Given the description of an element on the screen output the (x, y) to click on. 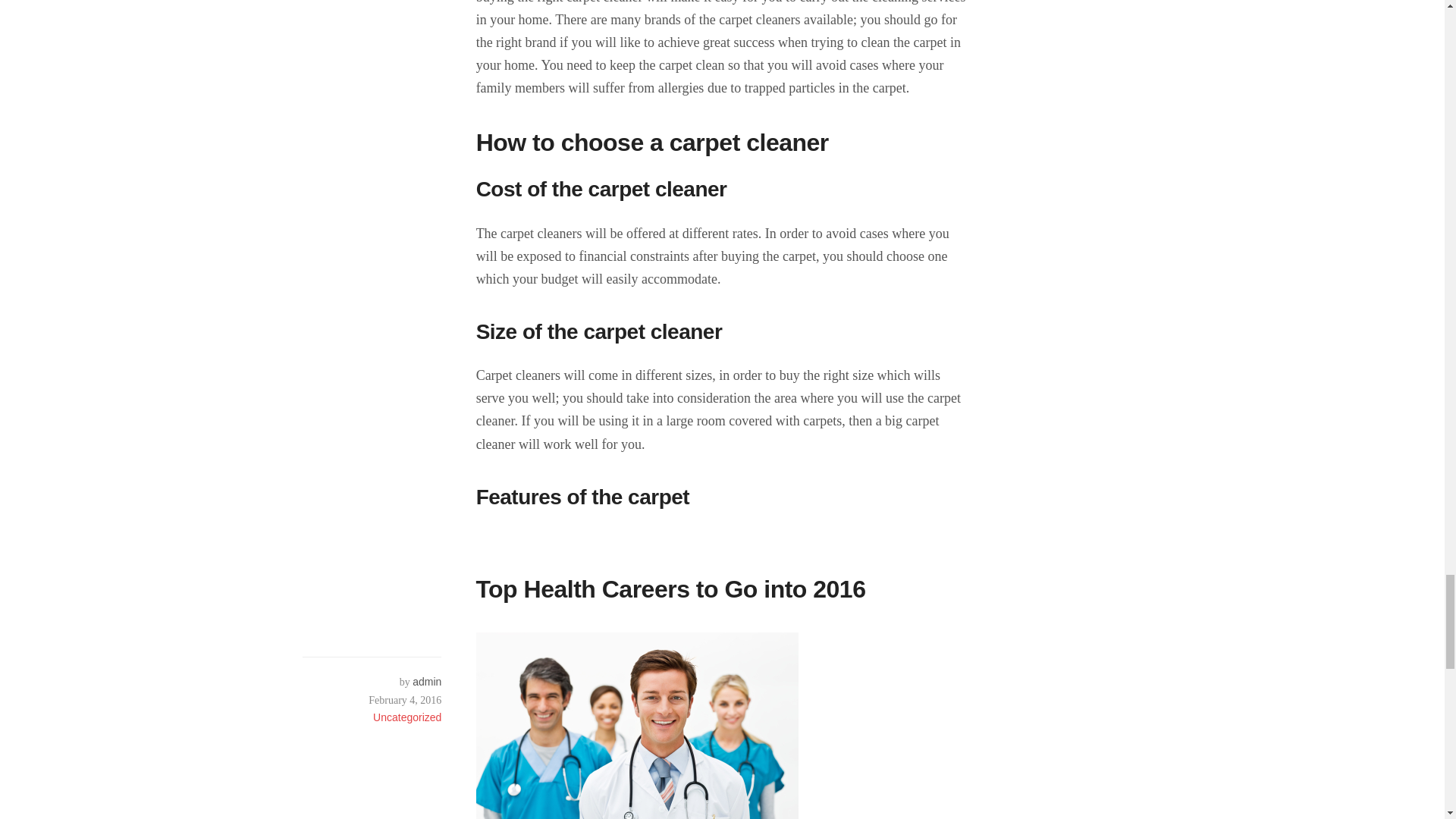
admin (426, 681)
Top Health Careers to Go into 2016 (670, 588)
Posts by admin (426, 681)
February 4, 2016 (371, 700)
Uncategorized (406, 717)
